Given the description of an element on the screen output the (x, y) to click on. 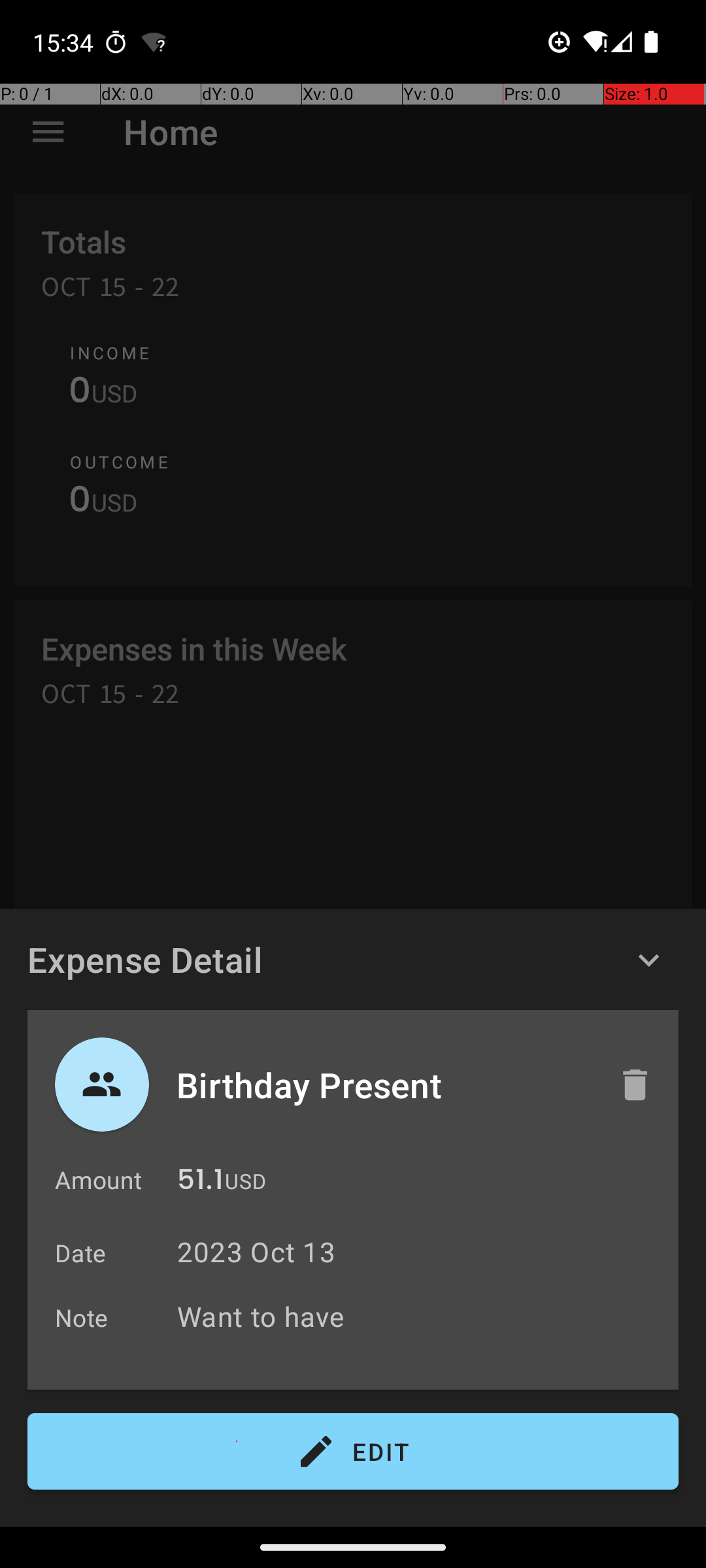
Birthday Present Element type: android.widget.TextView (383, 1084)
51.1 Element type: android.widget.TextView (200, 1182)
